Given the description of an element on the screen output the (x, y) to click on. 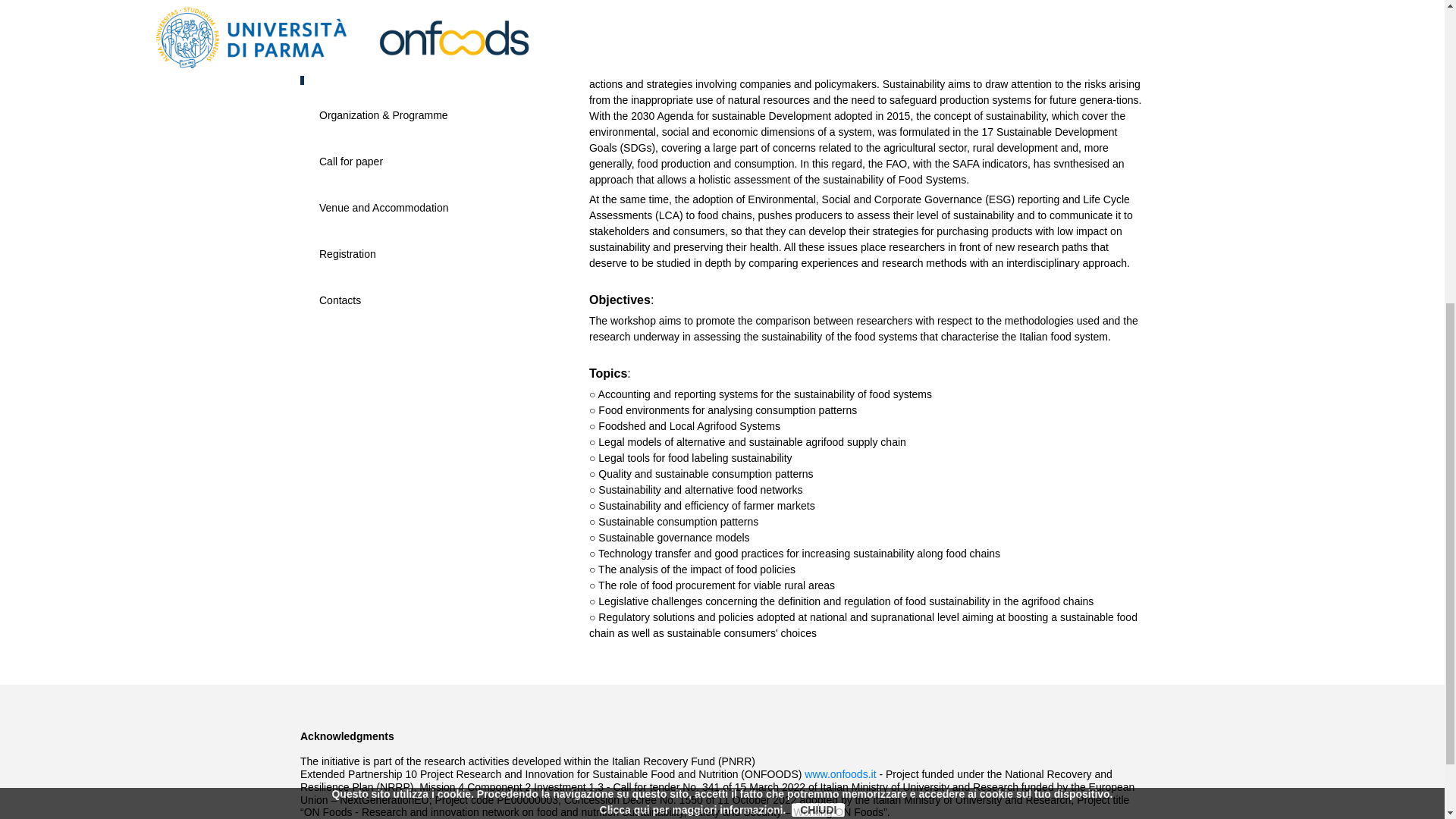
General information (365, 69)
Venue and Accommodation (383, 207)
Contacts (339, 300)
Clicca qui per maggiori informazioni. (692, 290)
Call for paper (350, 161)
Registration (346, 254)
www.onfoods.it (840, 774)
